Given the description of an element on the screen output the (x, y) to click on. 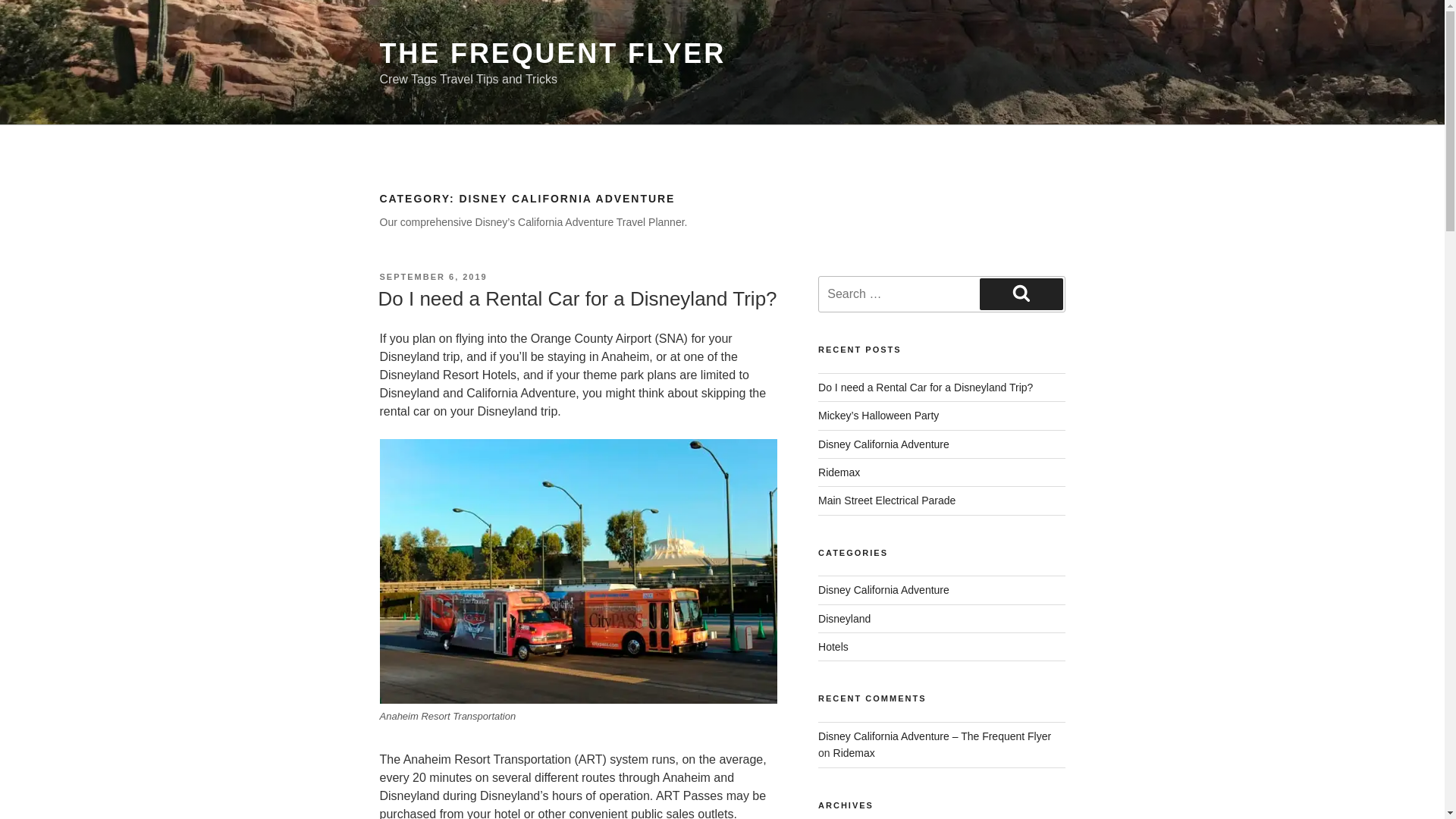
Disneyland (844, 618)
Ridemax (839, 472)
SEPTEMBER 6, 2019 (432, 276)
THE FREQUENT FLYER (551, 52)
Disney California Adventure (883, 589)
Do I need a Rental Car for a Disneyland Trip? (576, 298)
Disney California Adventure (883, 444)
Search (1020, 294)
Hotels (833, 646)
Do I need a Rental Car for a Disneyland Trip? (925, 387)
Main Street Electrical Parade (886, 500)
Ridemax (853, 752)
